Given the description of an element on the screen output the (x, y) to click on. 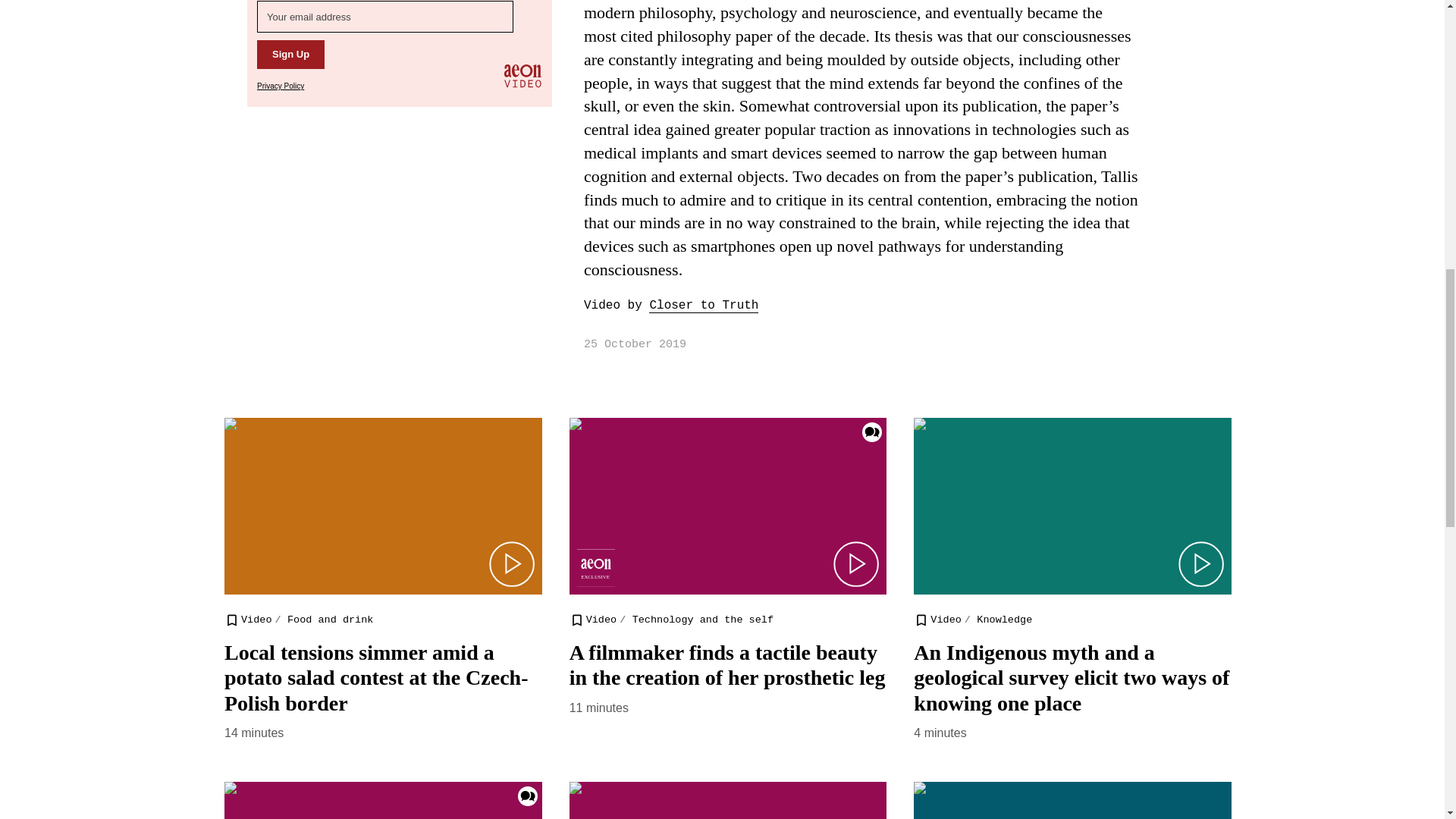
Truth (740, 305)
Privacy Policy (280, 85)
Closer to (685, 305)
EXCLUSIVE (595, 567)
Sign Up (290, 54)
